Given the description of an element on the screen output the (x, y) to click on. 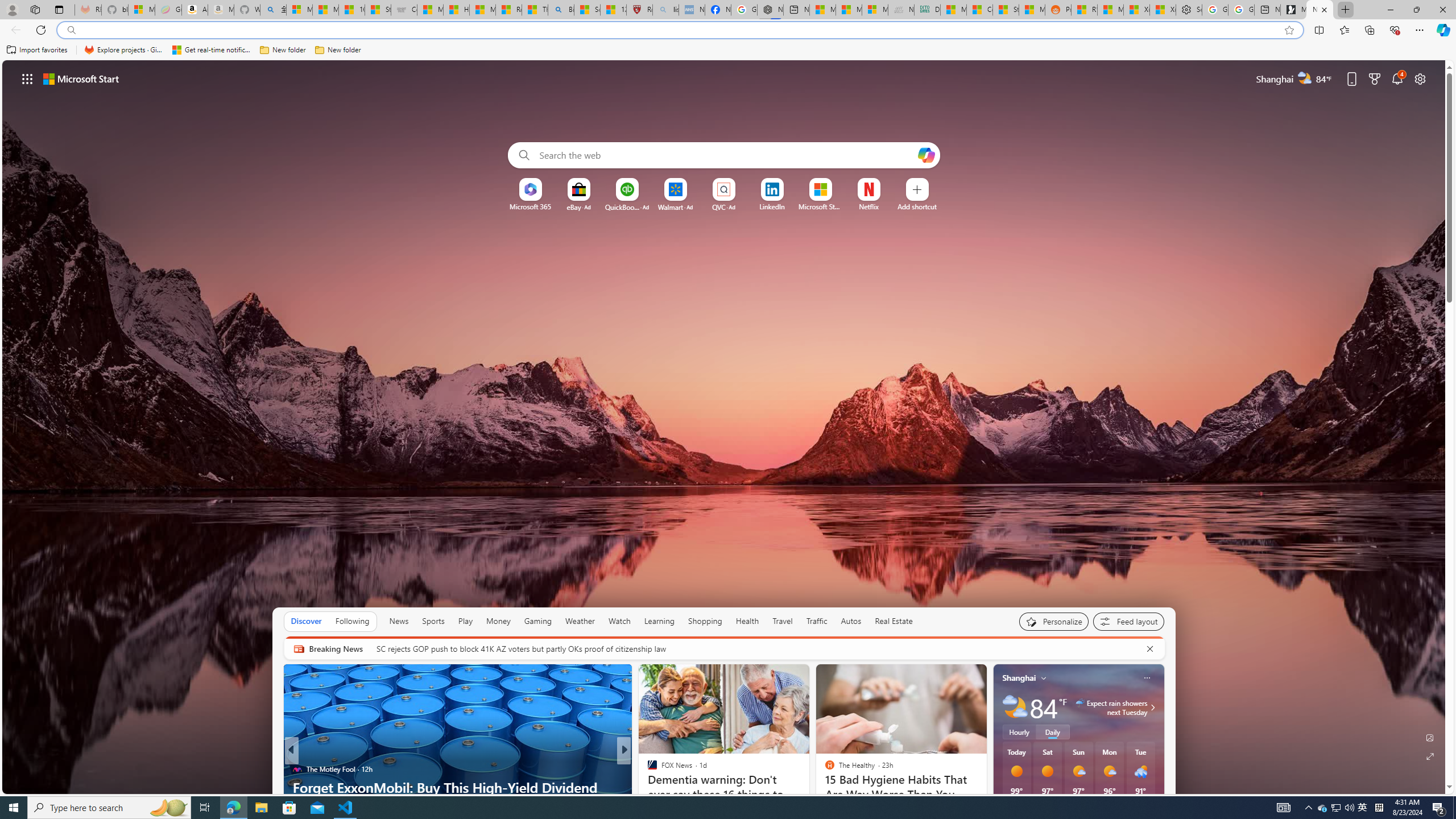
Moneywise (647, 768)
Page settings (1420, 78)
Search icon (70, 29)
Food Plus Words (647, 768)
Feed settings (1128, 621)
Mostly sunny (1109, 771)
